Given the description of an element on the screen output the (x, y) to click on. 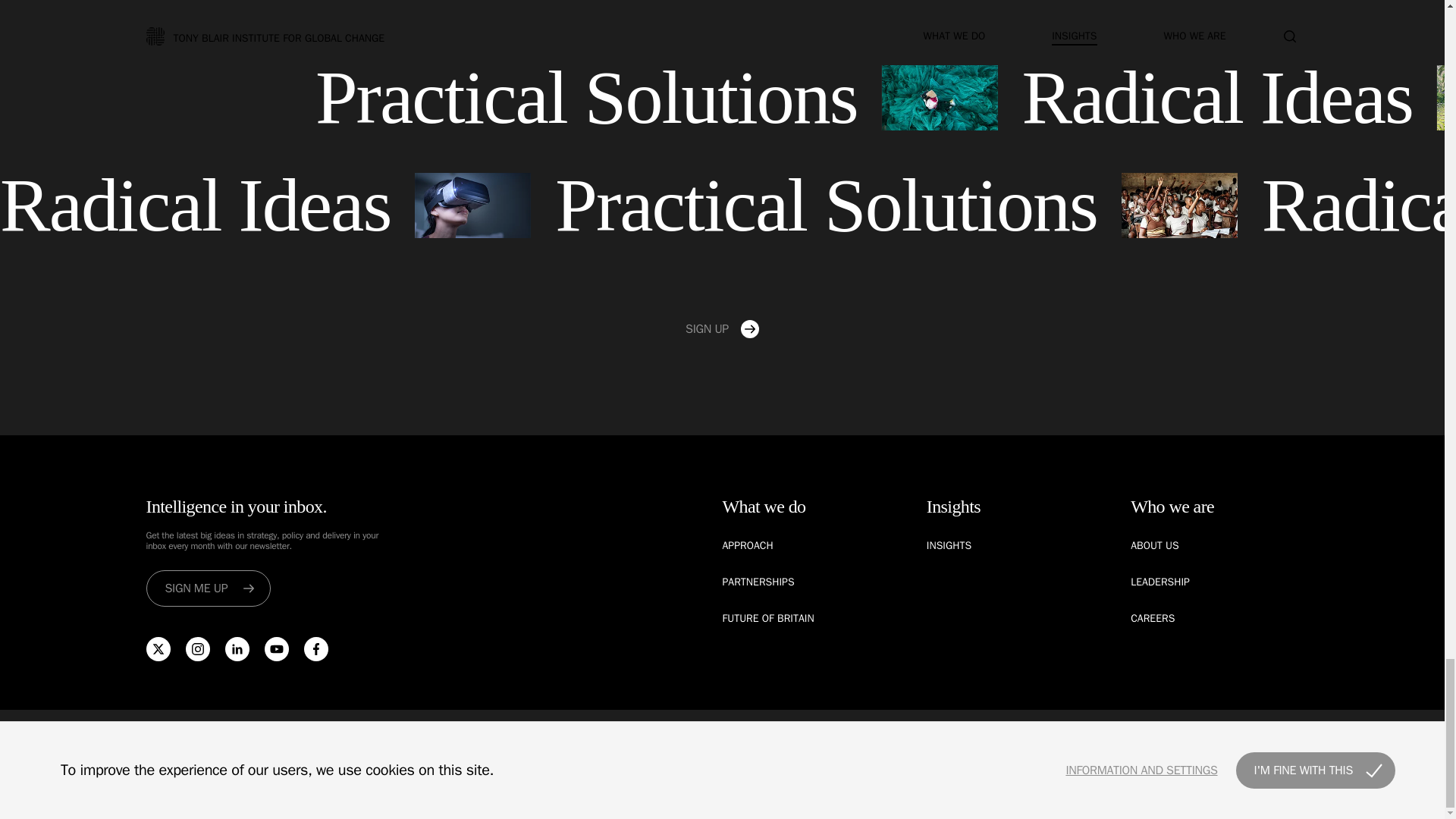
instagram (196, 648)
COOKIES (739, 745)
PARTNERSHIPS (757, 581)
LEADERSHIP (1160, 581)
CAREERS (1152, 618)
Sign up (721, 329)
facebook (314, 648)
SIGN UP (721, 329)
SIGN ME UP (207, 588)
linkedin (236, 648)
